Given the description of an element on the screen output the (x, y) to click on. 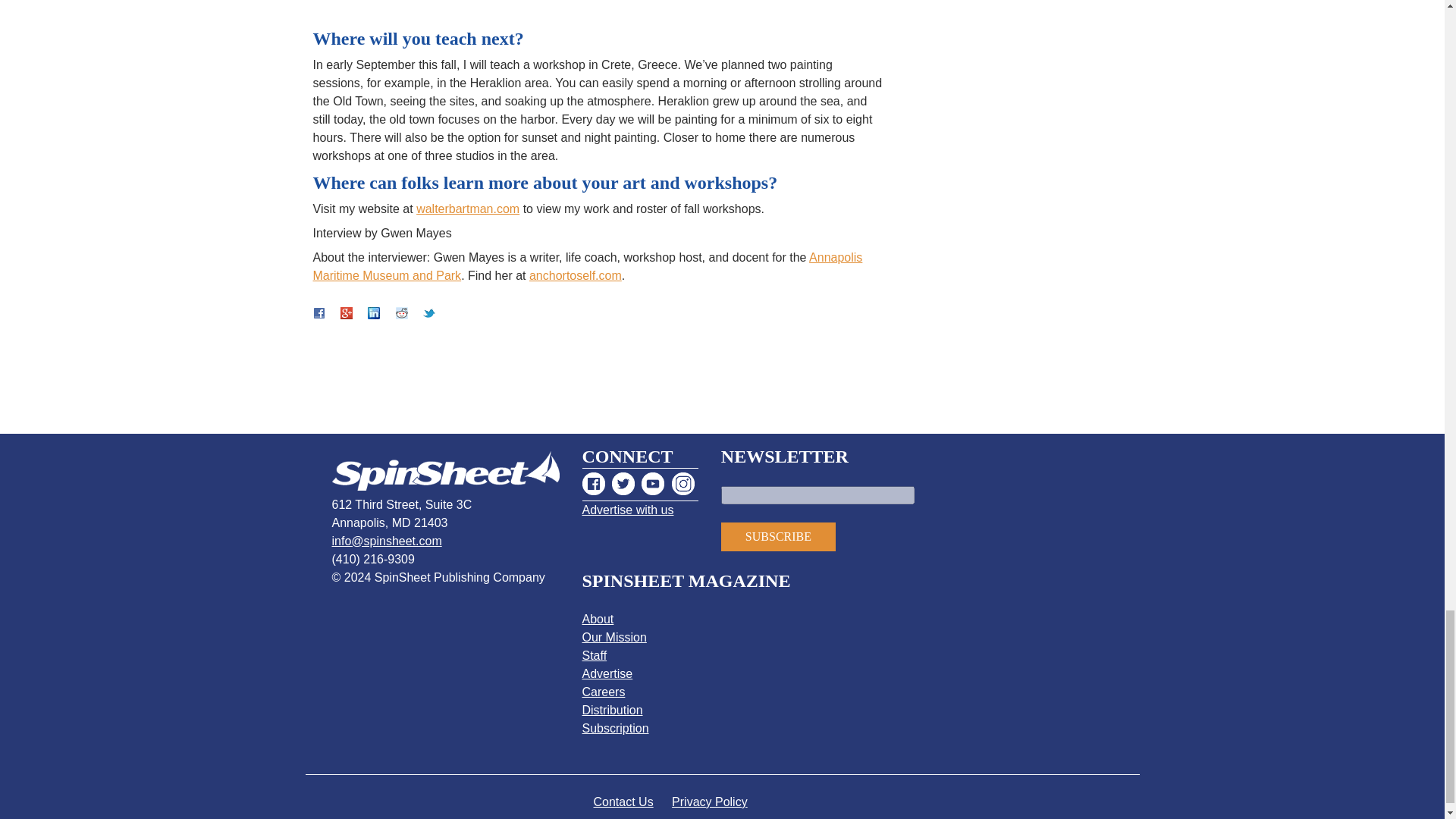
Annapolis Maritime Museum and Park (587, 265)
walterbartman.com (467, 208)
Subscribe (777, 536)
anchortoself.com (575, 275)
